Given the description of an element on the screen output the (x, y) to click on. 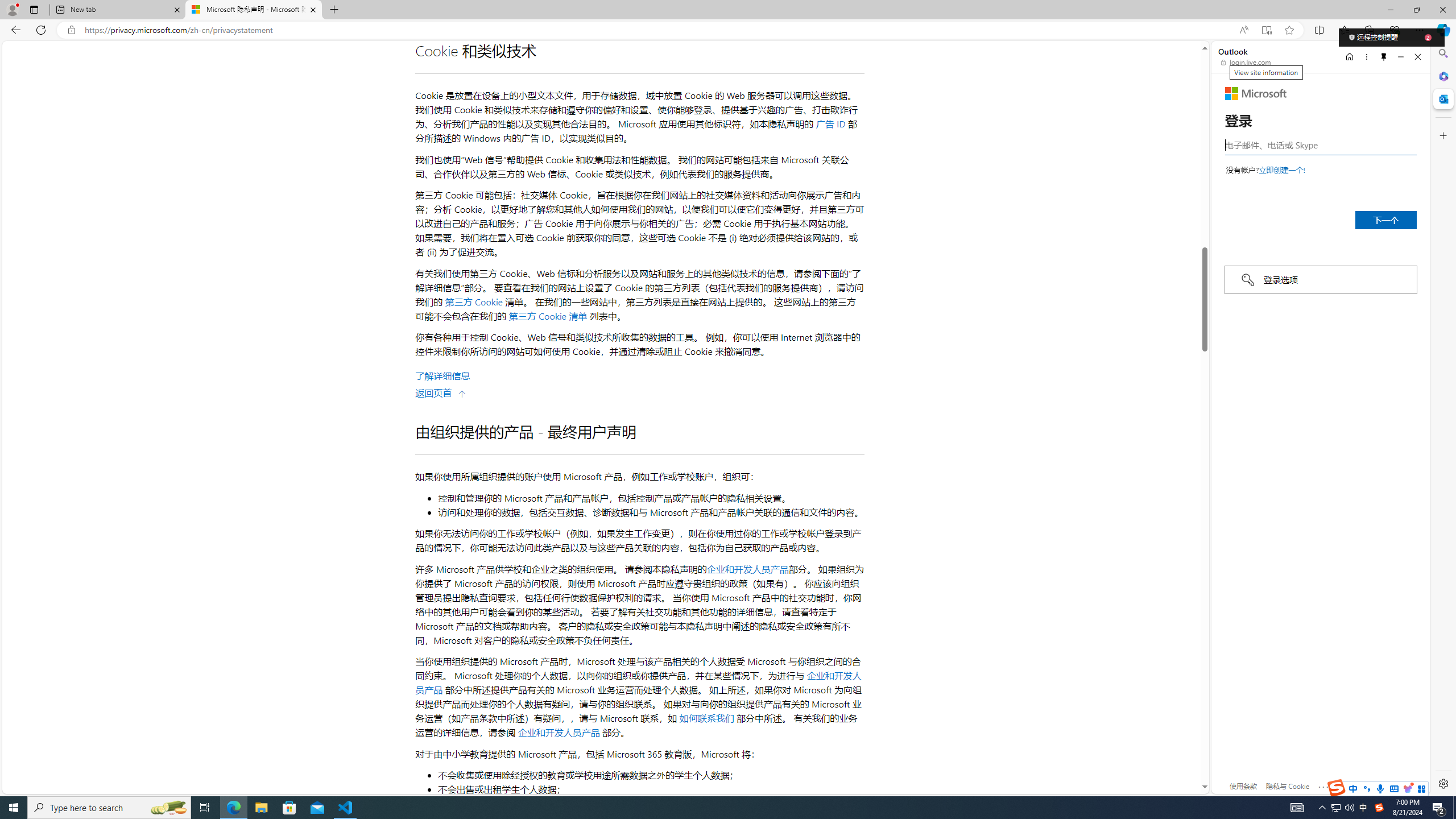
App bar (728, 29)
Search (1442, 53)
Unpin side pane (1383, 56)
Outlook (1442, 98)
Customize (1442, 135)
